Given the description of an element on the screen output the (x, y) to click on. 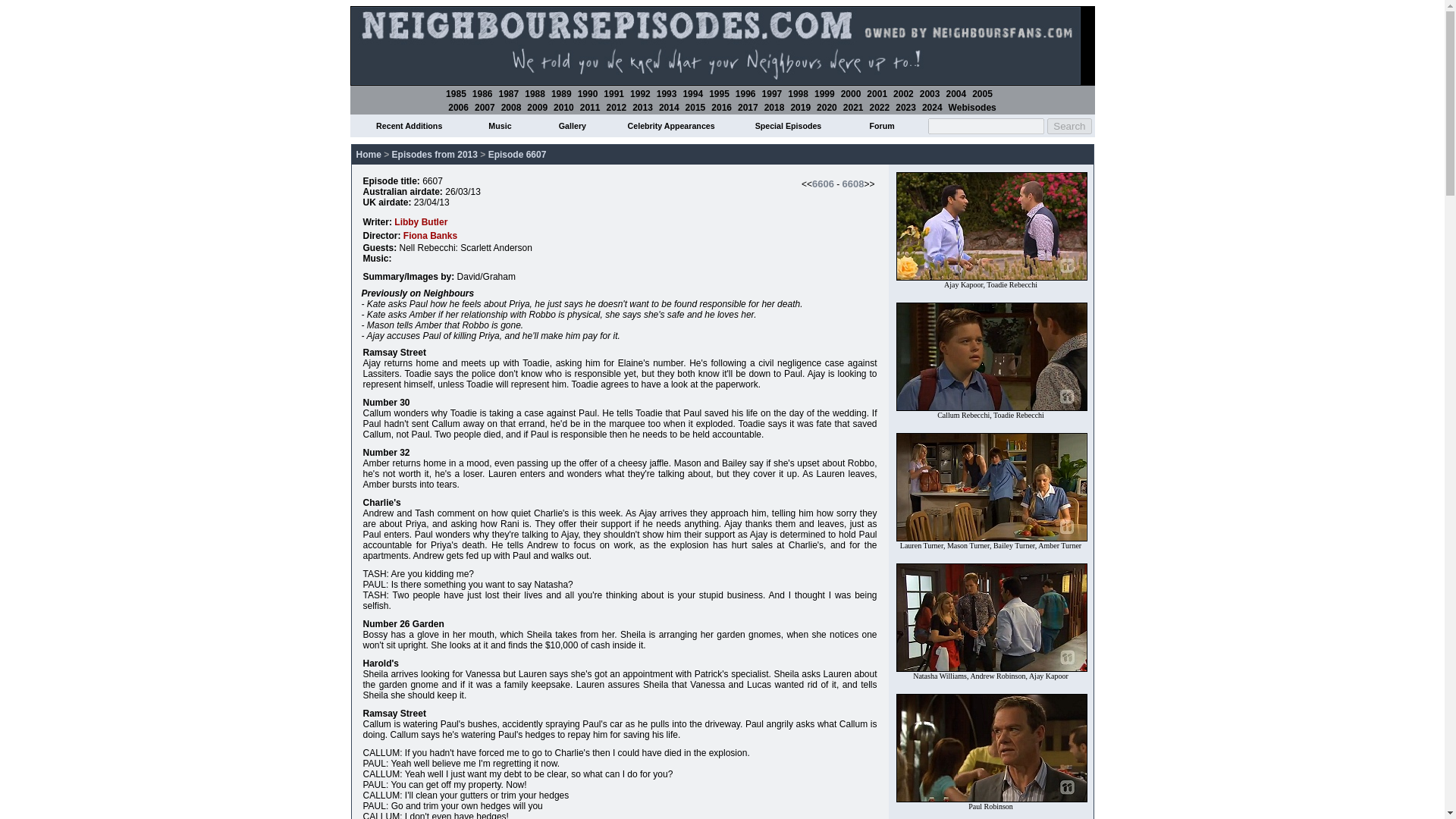
1990 (588, 93)
2004 (955, 93)
1989 (561, 93)
2015 (695, 107)
1991 (614, 93)
2019 (800, 107)
2012 (615, 107)
2017 (748, 107)
2020 (826, 107)
2009 (537, 107)
